Given the description of an element on the screen output the (x, y) to click on. 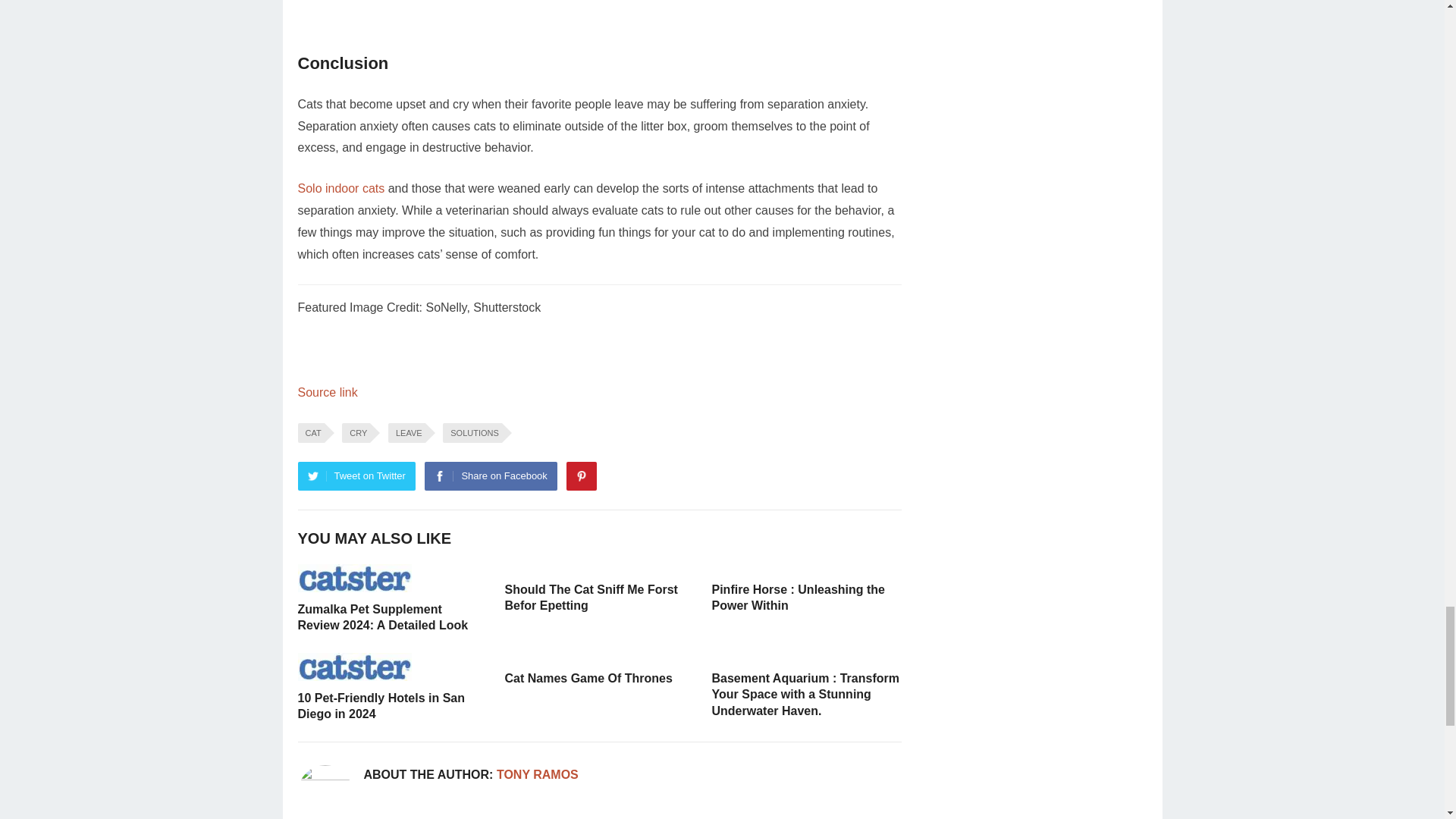
Solo indoor cats (340, 187)
CAT (310, 433)
Source link (326, 391)
